Given the description of an element on the screen output the (x, y) to click on. 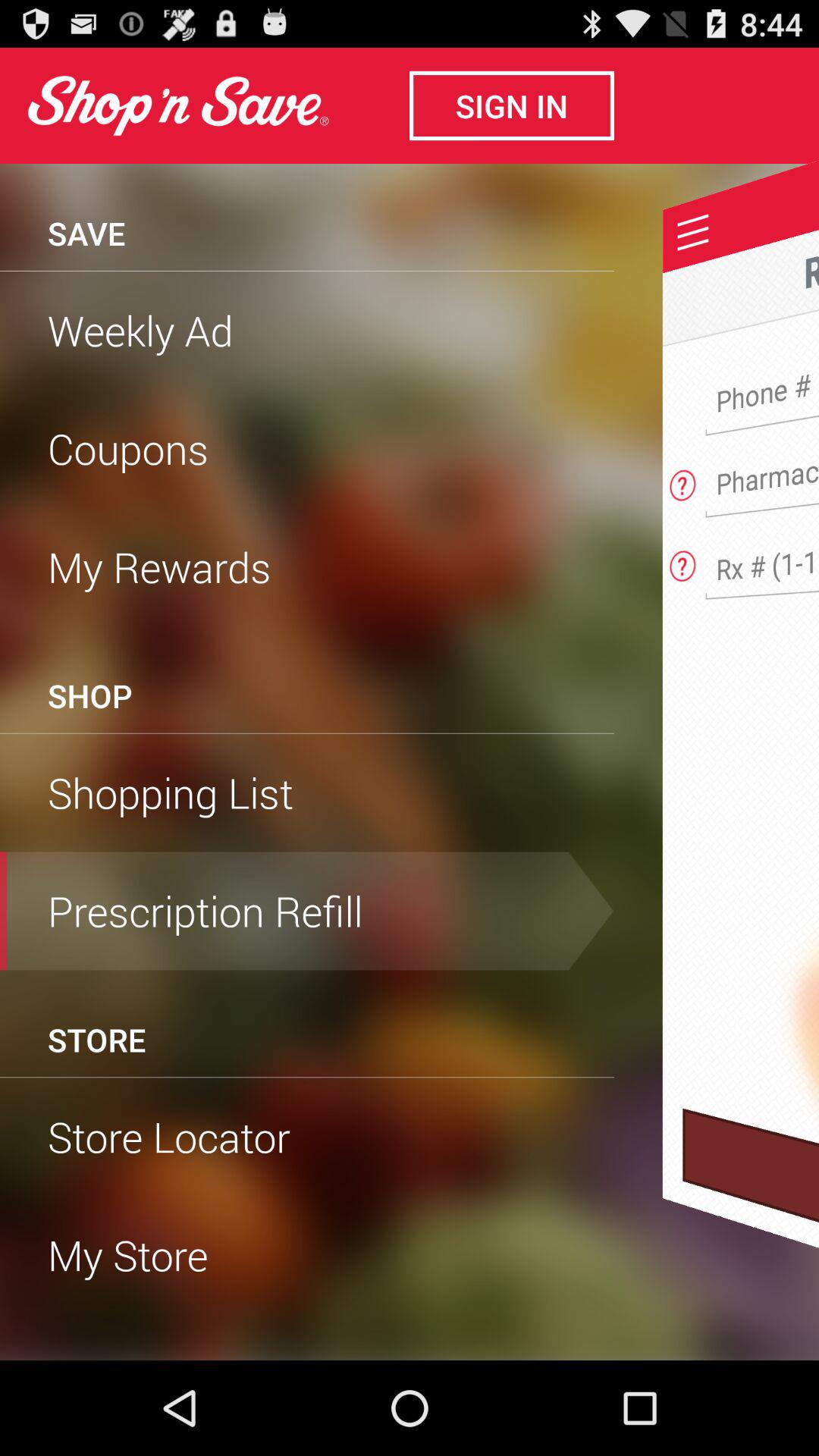
help (682, 480)
